Given the description of an element on the screen output the (x, y) to click on. 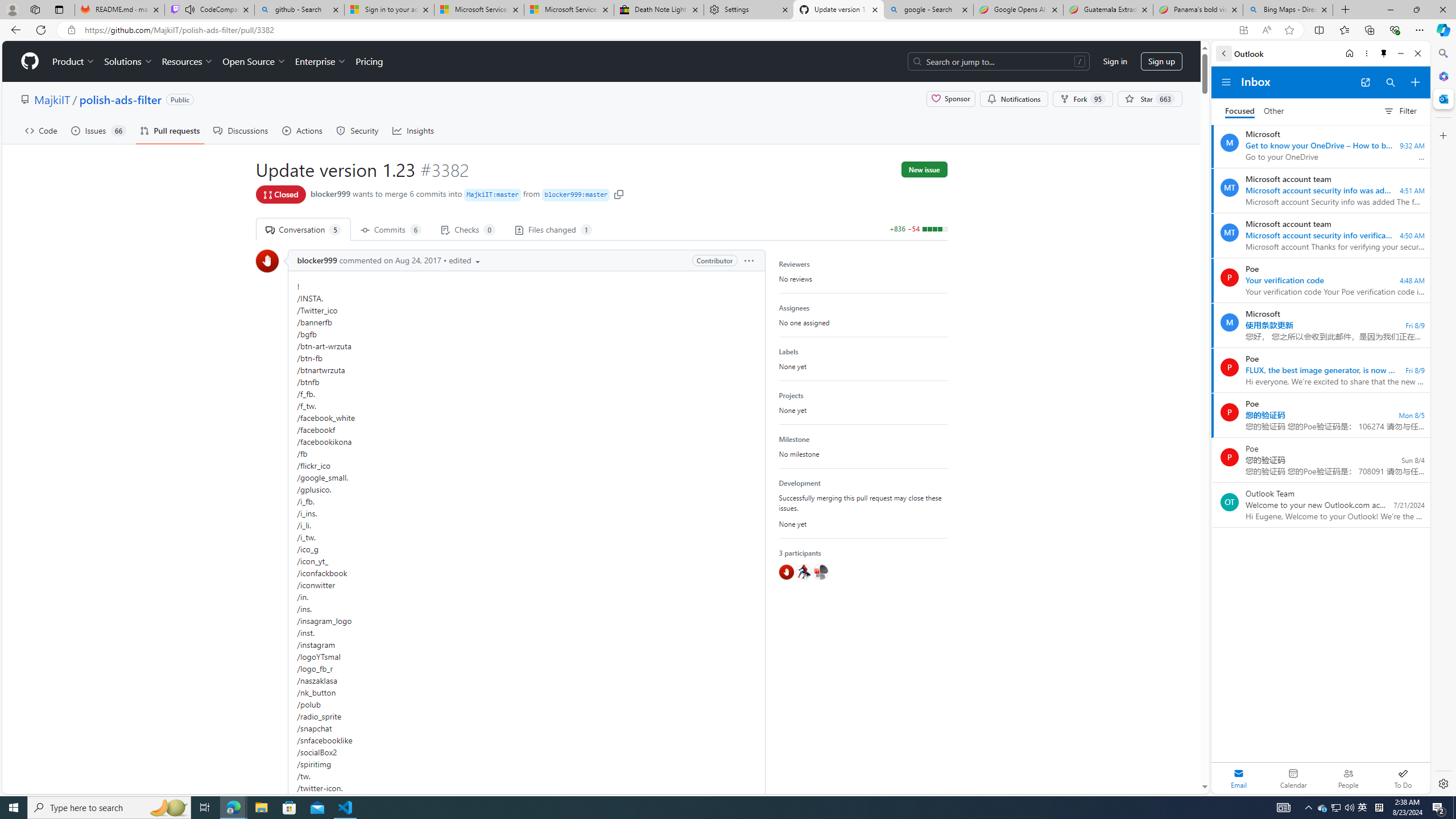
Insights (413, 130)
Fork 95 (1082, 98)
Actions (302, 130)
Solutions (128, 60)
Sign up (1161, 61)
MajkiIT (51, 99)
@blocker999 (785, 572)
Focused Inbox, toggle to go to Other Inbox (1254, 110)
